Given the description of an element on the screen output the (x, y) to click on. 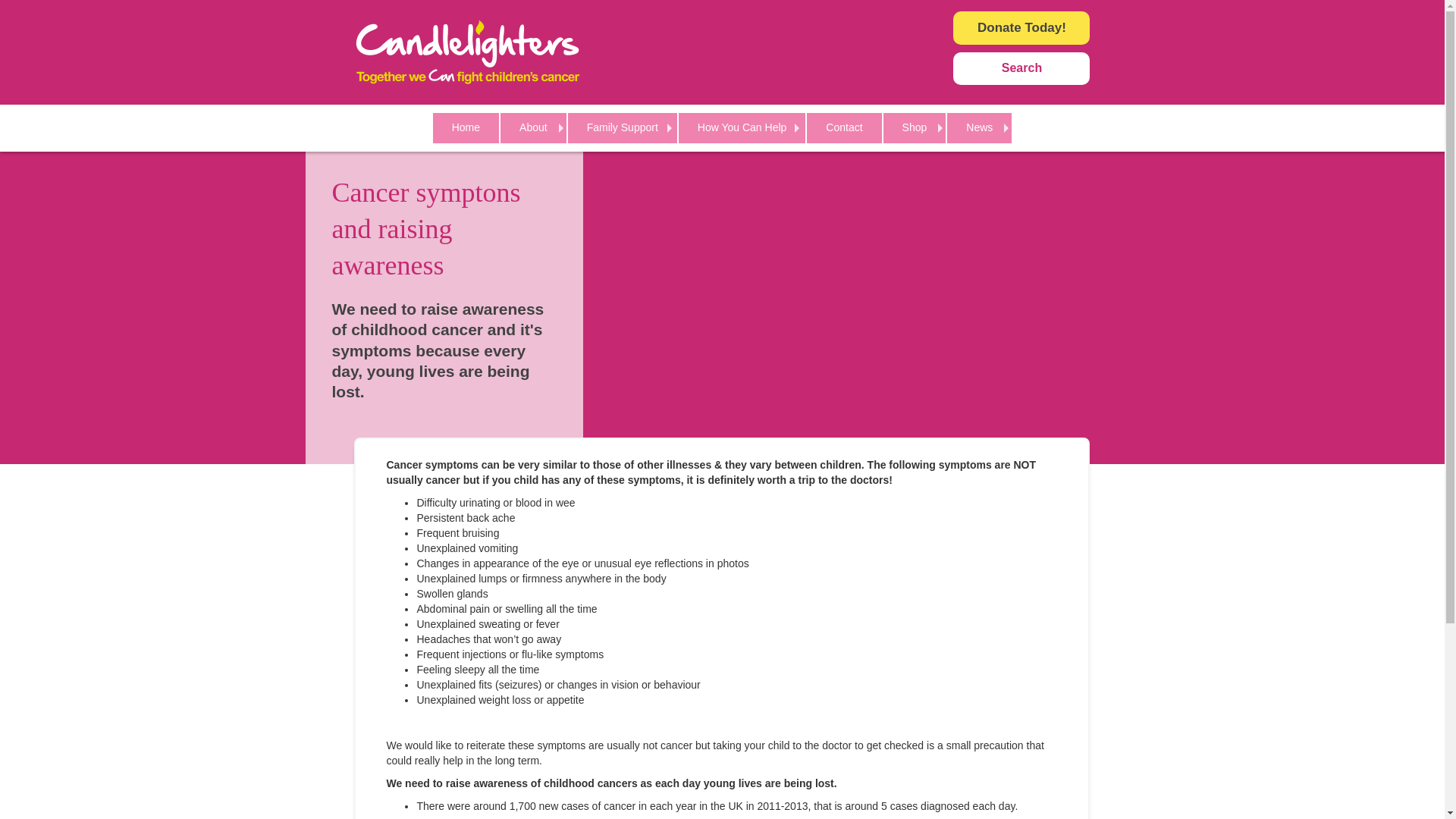
Shop (914, 128)
Home (465, 128)
Contact (844, 128)
Search (1021, 68)
About (533, 128)
Donate Today! (1021, 28)
Search (1021, 68)
Donate Today! (1021, 28)
Family Support (622, 128)
How You Can Help (742, 128)
